Given the description of an element on the screen output the (x, y) to click on. 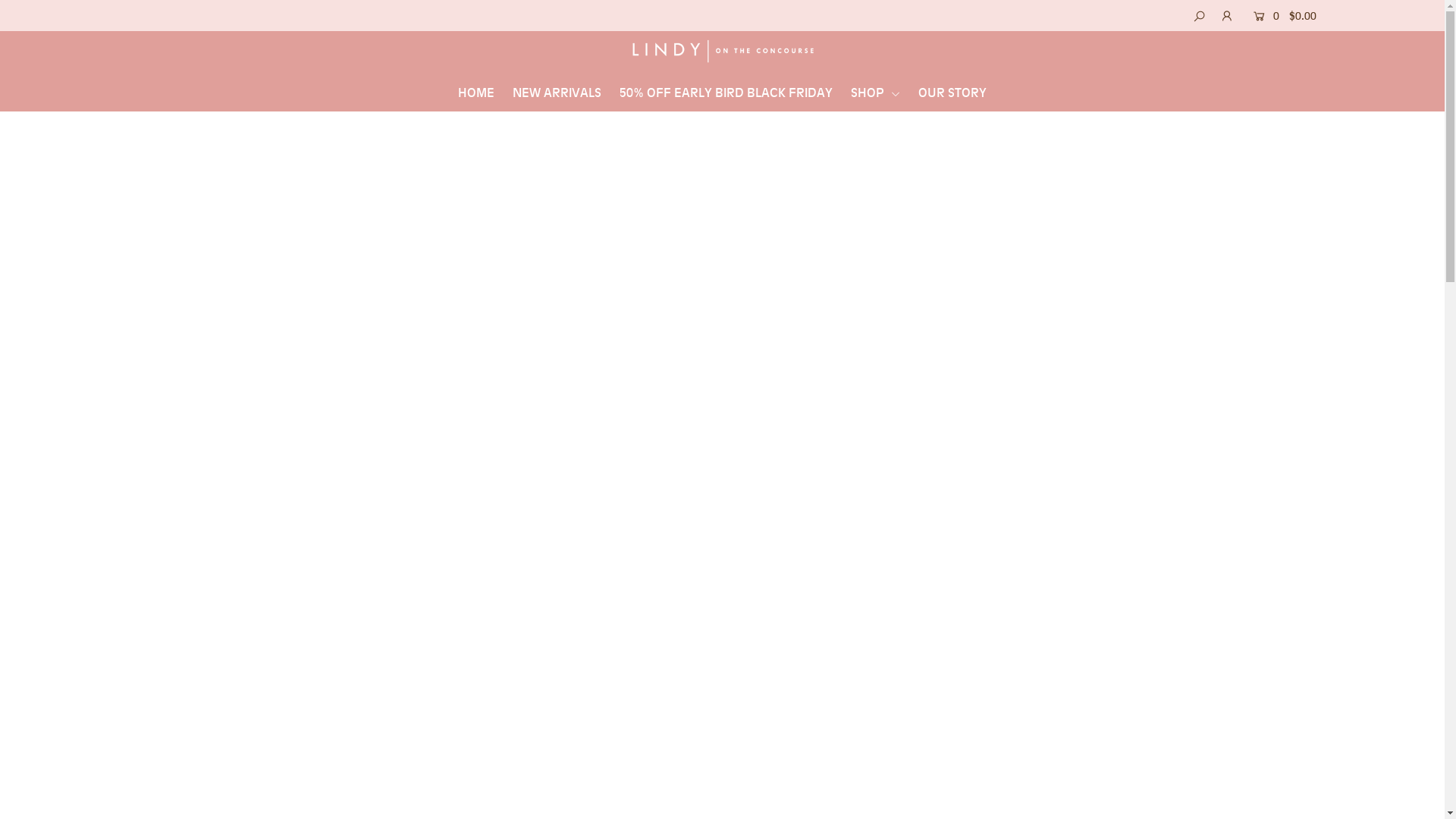
50% OFF EARLY BIRD BLACK FRIDAY Element type: text (725, 92)
NEW ARRIVALS Element type: text (556, 92)
  0  $0.00 Element type: text (1280, 15)
SHOP Element type: text (875, 92)
HOME Element type: text (476, 92)
OUR STORY Element type: text (952, 92)
